Given the description of an element on the screen output the (x, y) to click on. 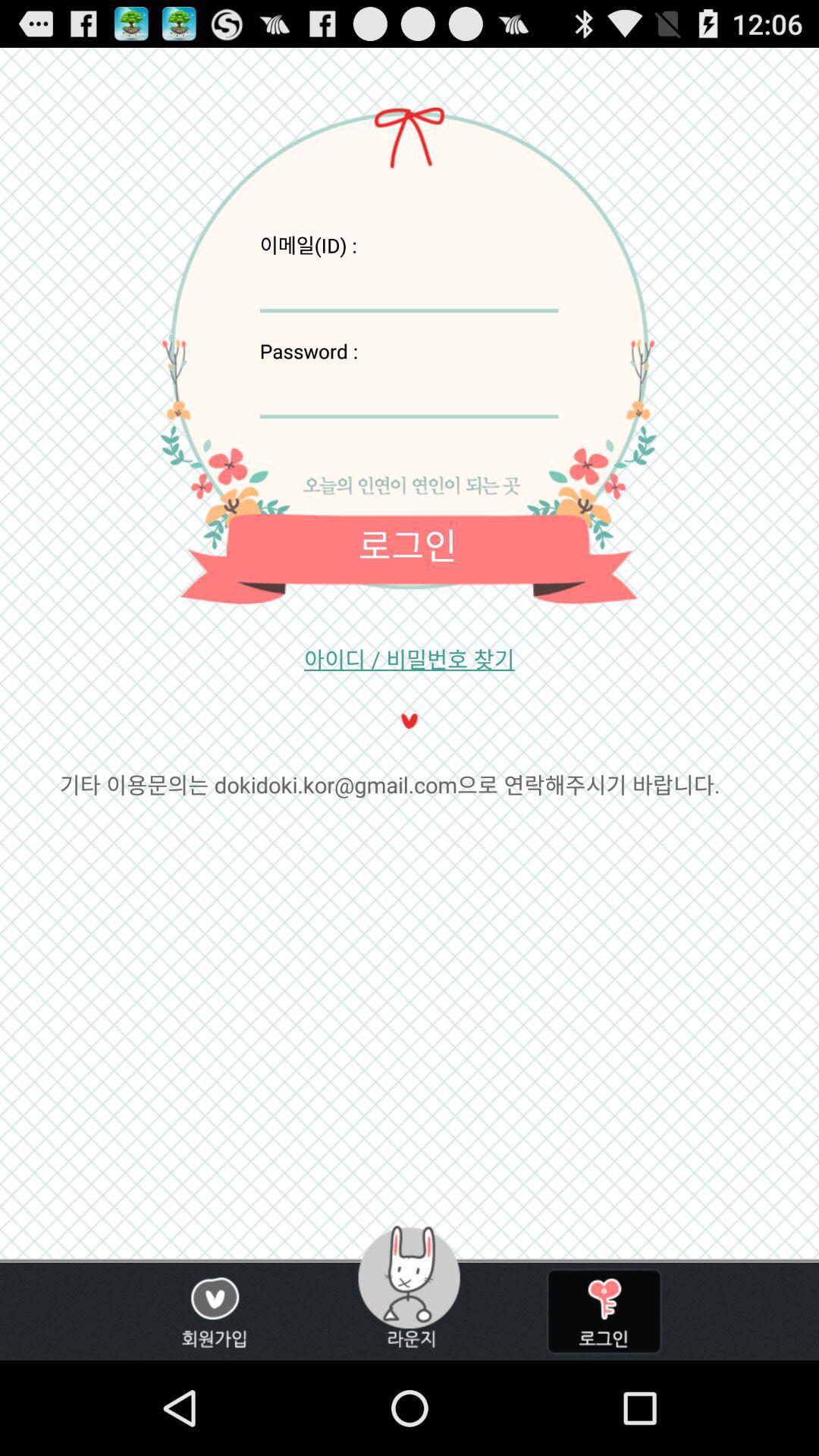
enter username (408, 285)
